Given the description of an element on the screen output the (x, y) to click on. 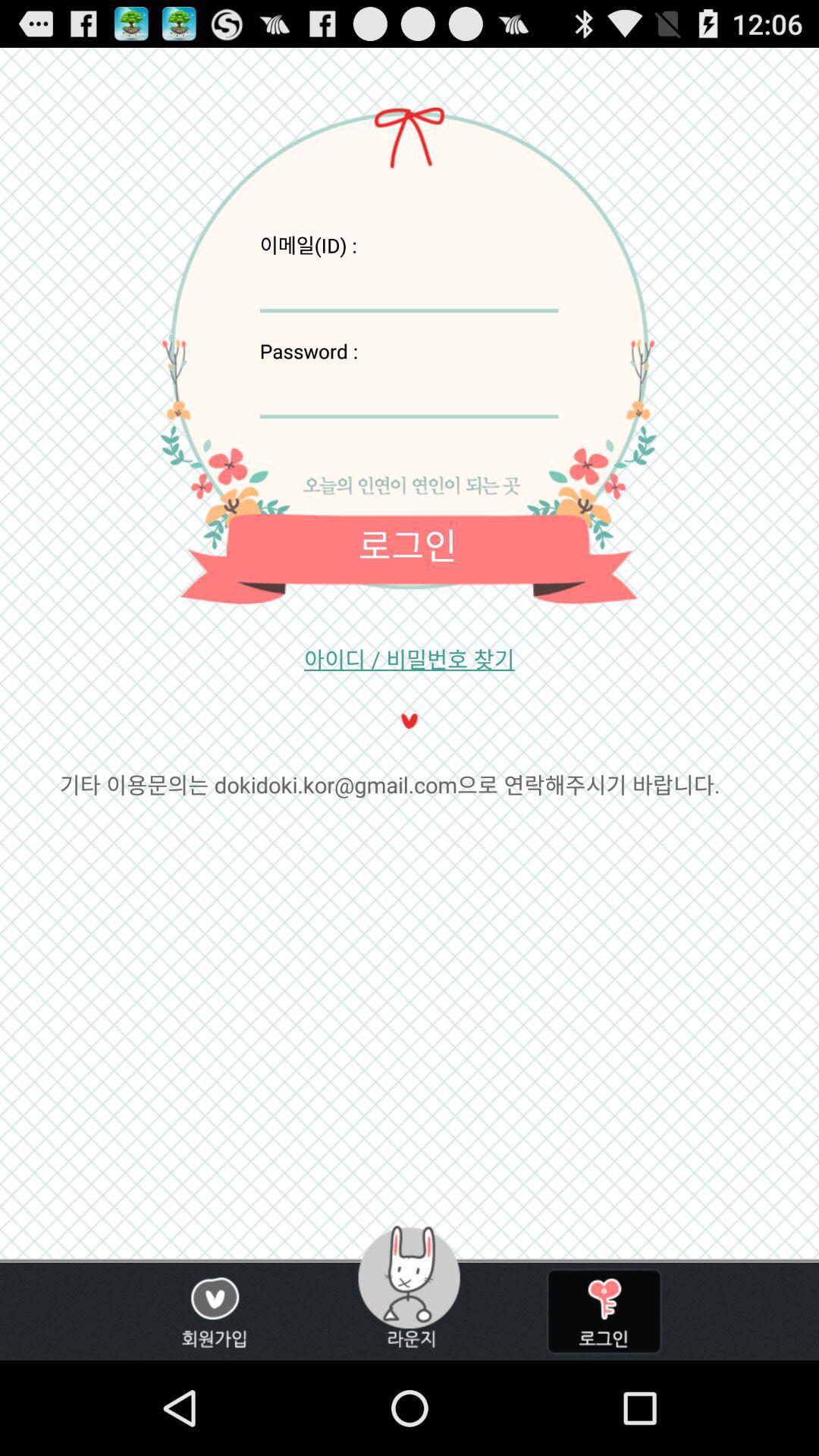
enter username (408, 285)
